Given the description of an element on the screen output the (x, y) to click on. 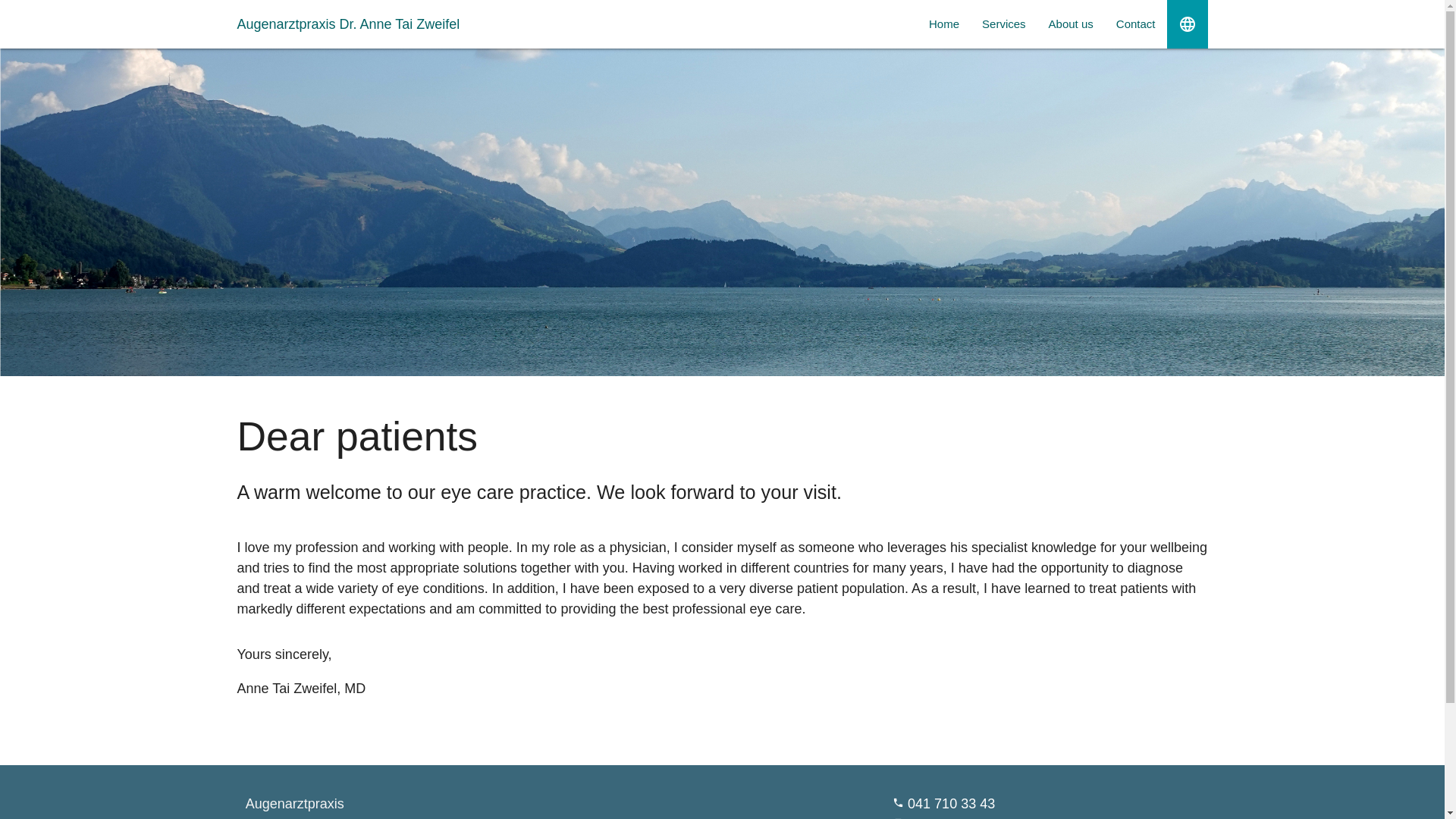
About us Element type: text (1070, 24)
Augenarztpraxis Dr. Anne Tai Zweifel Element type: text (347, 23)
Services Element type: text (1003, 24)
language Element type: text (1186, 24)
Home Element type: text (943, 24)
Contact Element type: text (1135, 24)
